Given the description of an element on the screen output the (x, y) to click on. 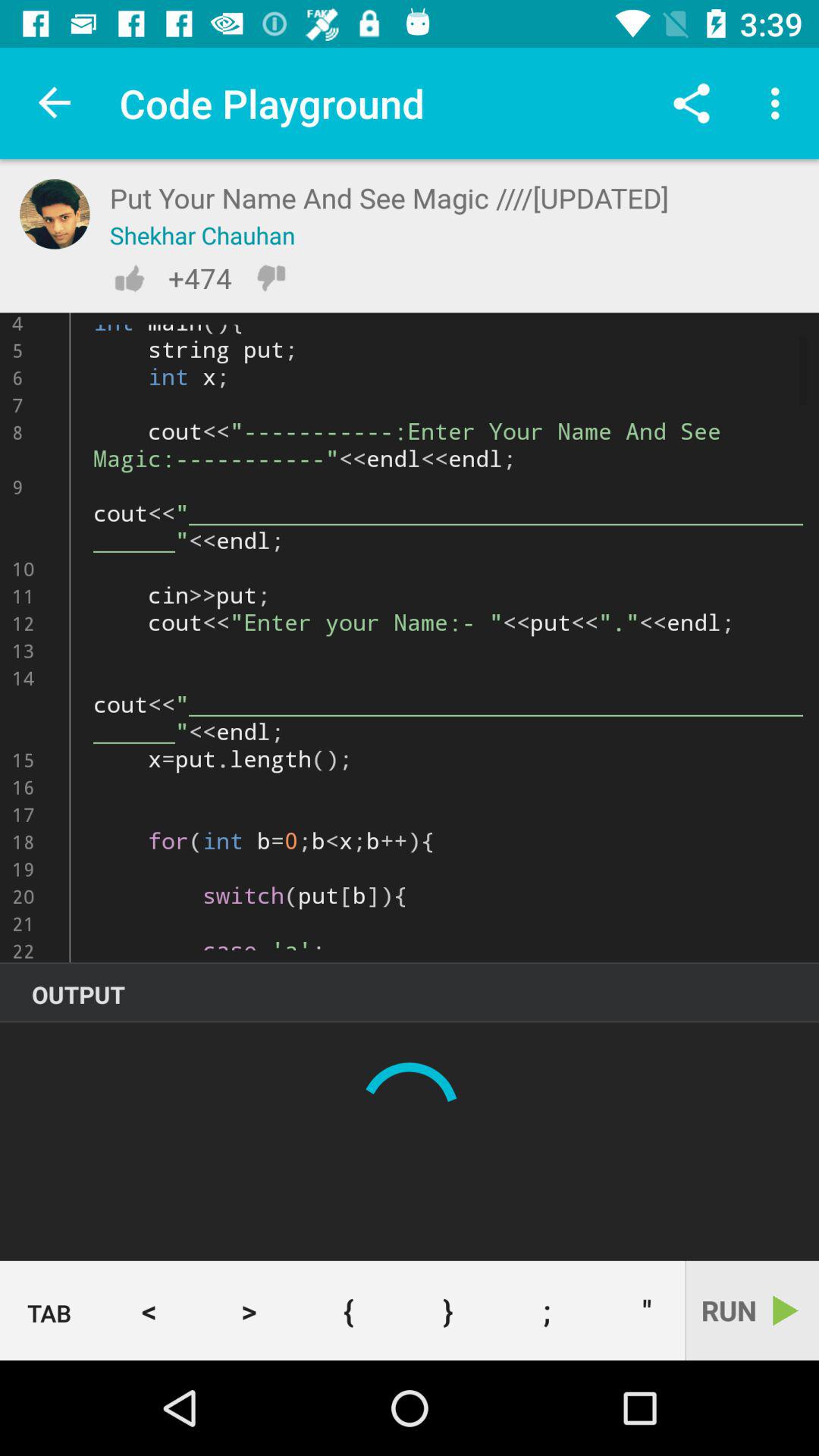
profile picture (54, 214)
